Given the description of an element on the screen output the (x, y) to click on. 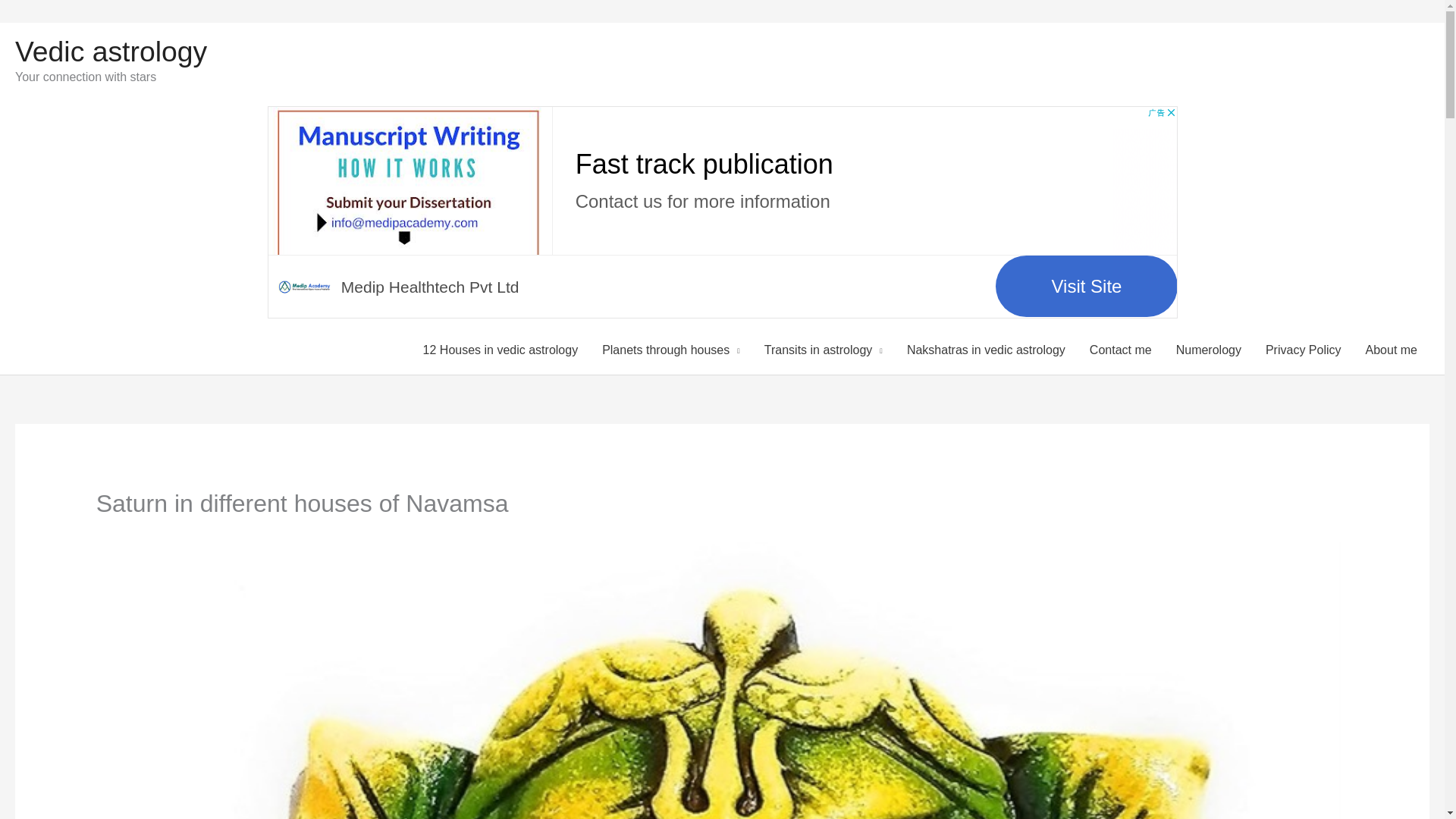
12 Houses in vedic astrology (500, 349)
Nakshatras in vedic astrology (986, 349)
Planets through houses (670, 349)
Contact me (1120, 349)
Privacy Policy (1303, 349)
Transits in astrology (823, 349)
Numerology (1208, 349)
About me (1391, 349)
Vedic astrology (110, 51)
